Given the description of an element on the screen output the (x, y) to click on. 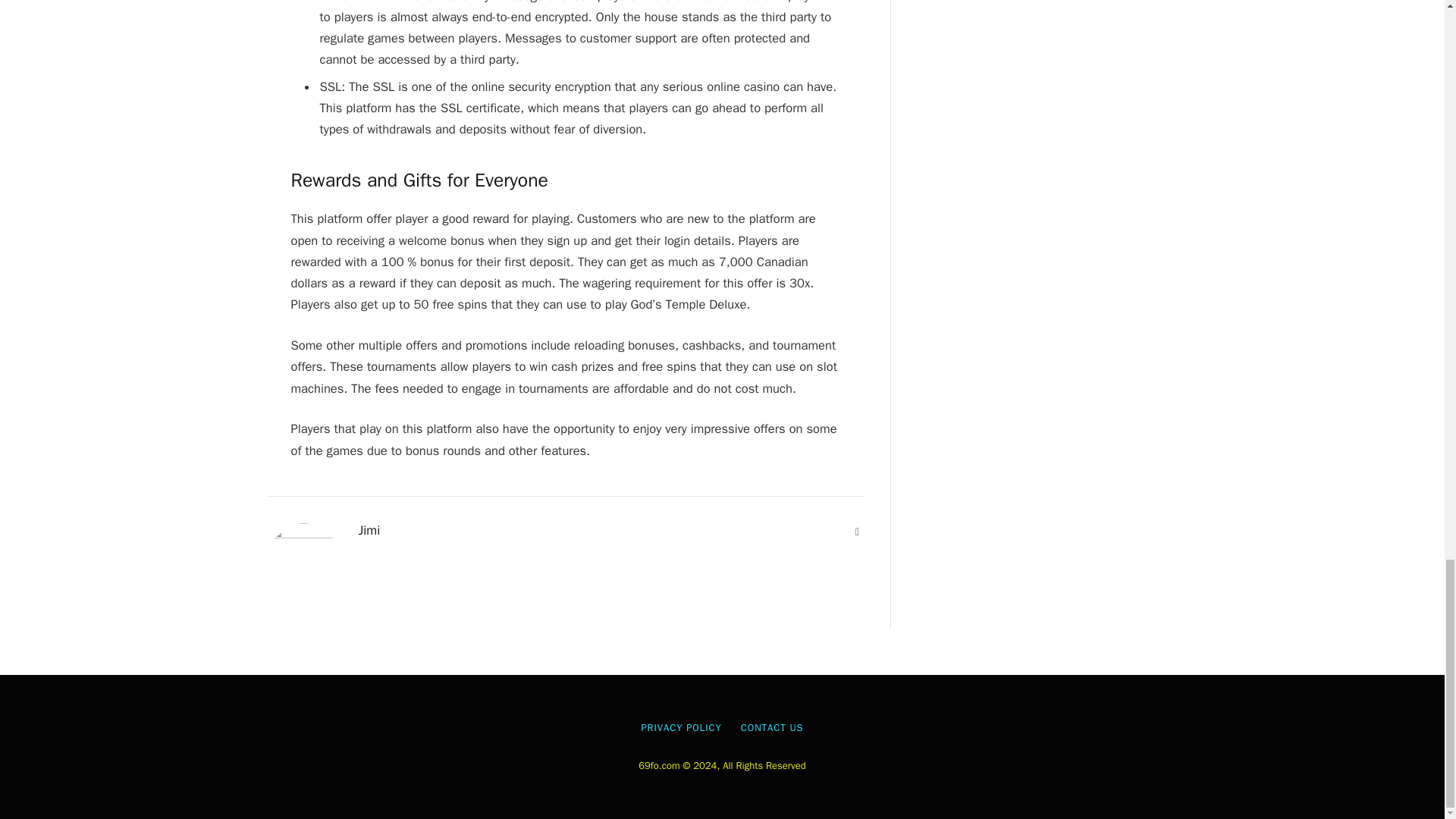
Website (856, 531)
Posts by Jimi (369, 530)
Jimi (369, 530)
Website (856, 531)
